Given the description of an element on the screen output the (x, y) to click on. 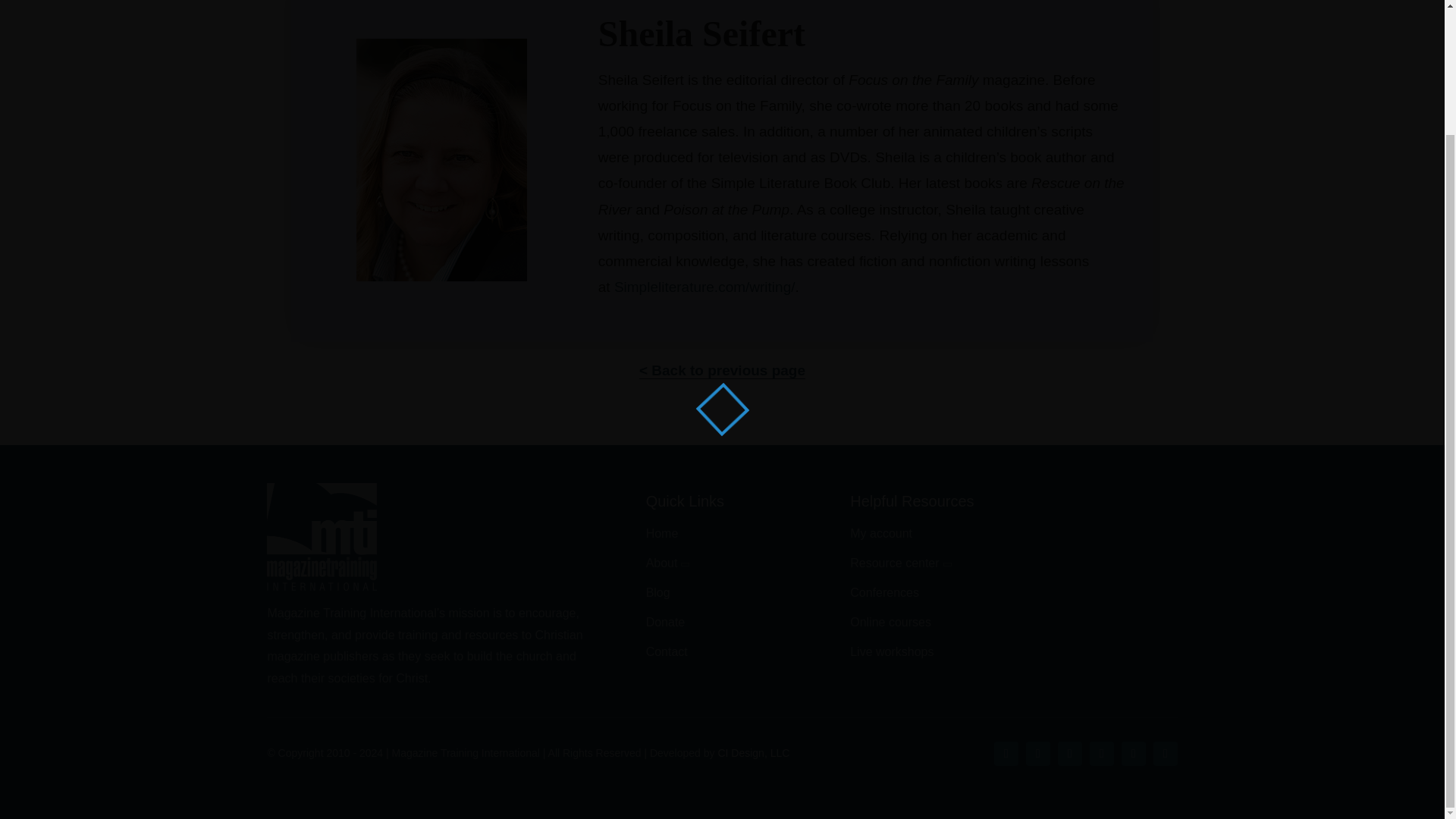
X (1037, 753)
Rss (1165, 753)
Facebook (1005, 753)
YouTube (1101, 753)
Pinterest (1069, 753)
LinkedIn (1133, 753)
